Given the description of an element on the screen output the (x, y) to click on. 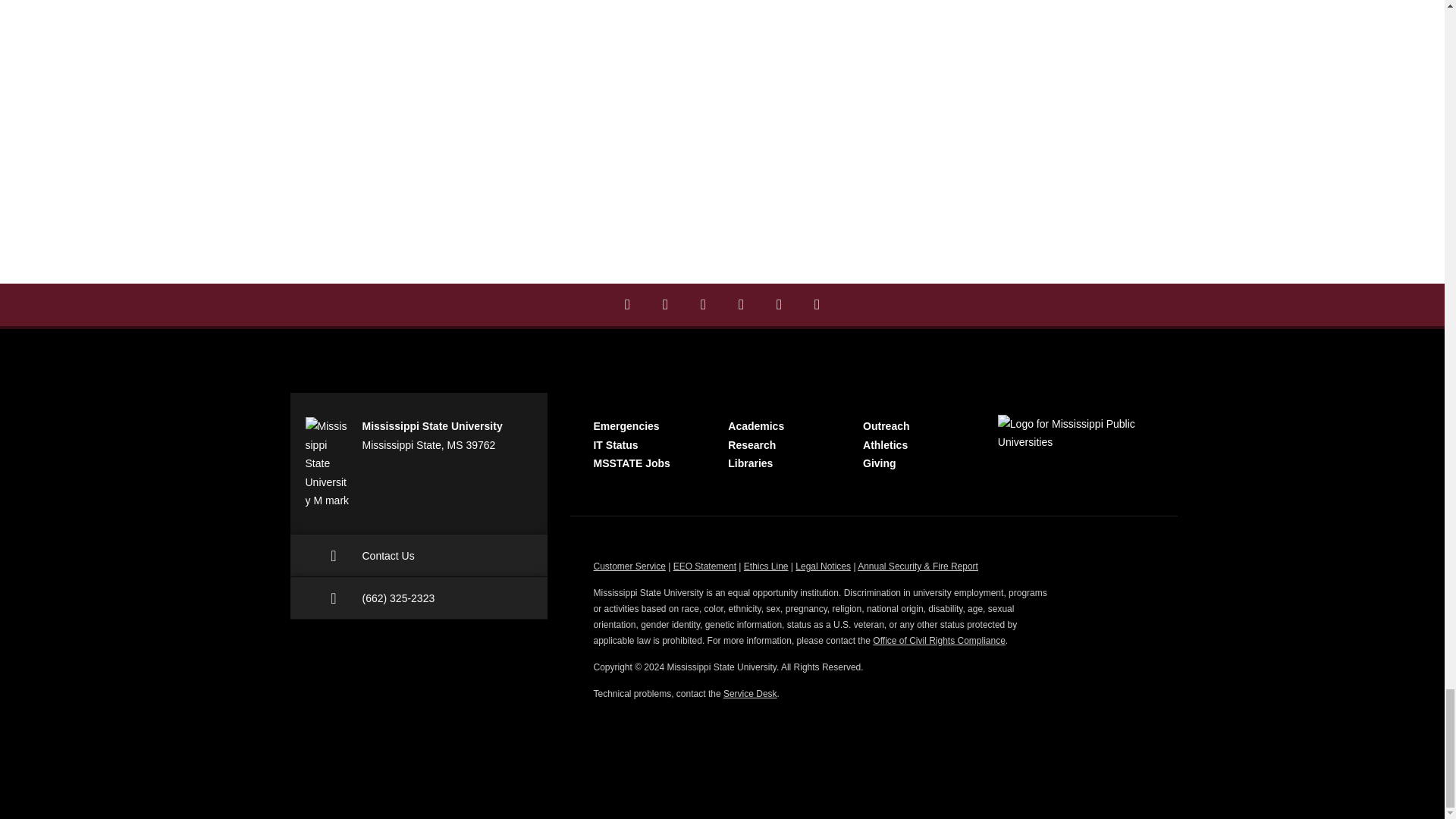
Find Mississippi State University on Twitter (778, 304)
Find Mississippi State University on Instagram (665, 304)
Contact Us (418, 555)
Find Mississippi State University on YouTube (816, 304)
Find Mississippi State University on Pinterest (741, 304)
Find Mississippi State University on LinkedIn (703, 304)
Mississippi Public Universities (1075, 433)
Find Mississippi State University on Facebook (627, 304)
